Given the description of an element on the screen output the (x, y) to click on. 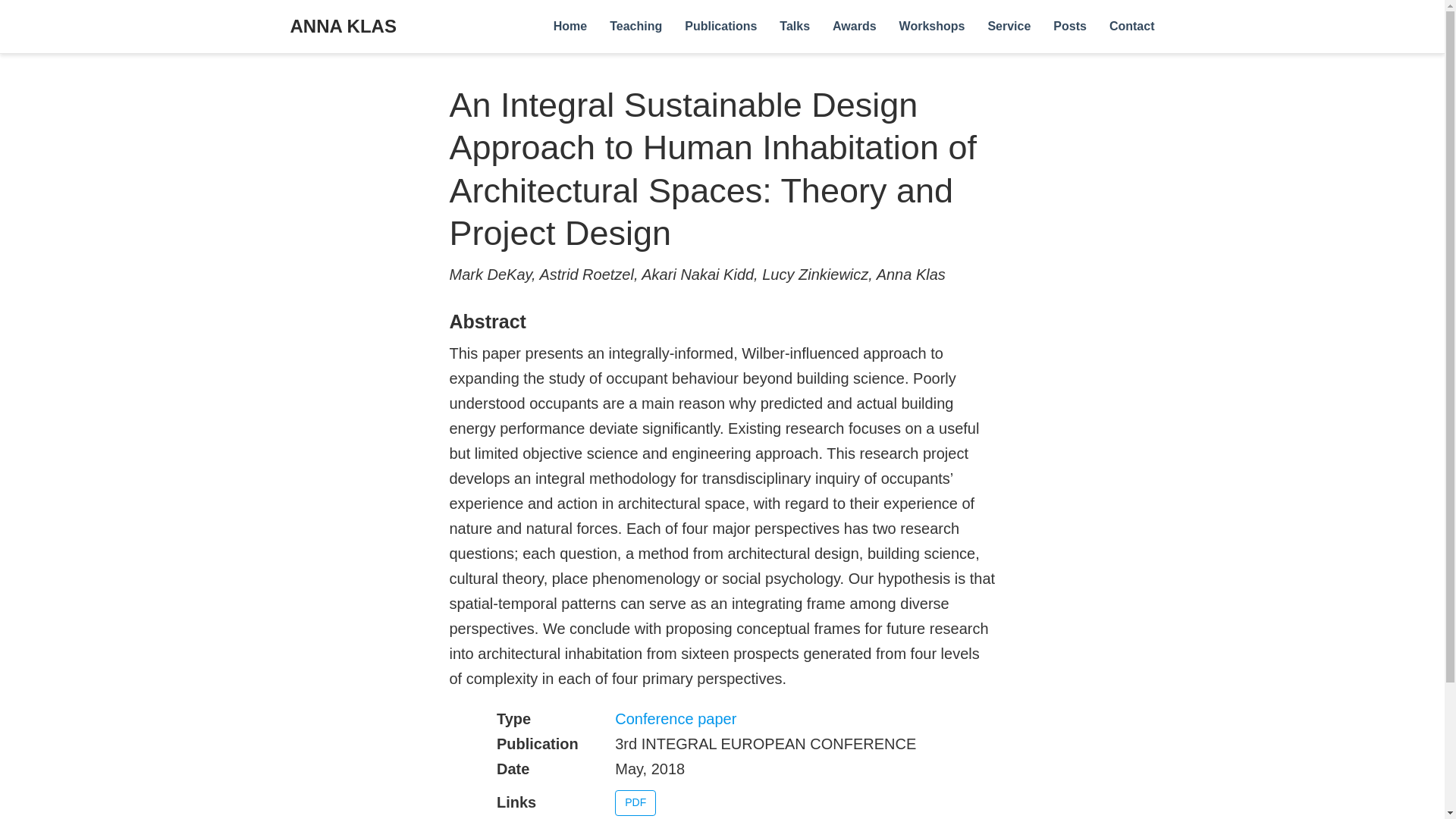
Conference paper (675, 718)
Teaching (635, 26)
Service (1008, 26)
ANNA KLAS (343, 26)
Contact (1131, 26)
Posts (1069, 26)
Home (569, 26)
Awards (854, 26)
PDF (635, 802)
Publications (720, 26)
Talks (794, 26)
Workshops (932, 26)
